Given the description of an element on the screen output the (x, y) to click on. 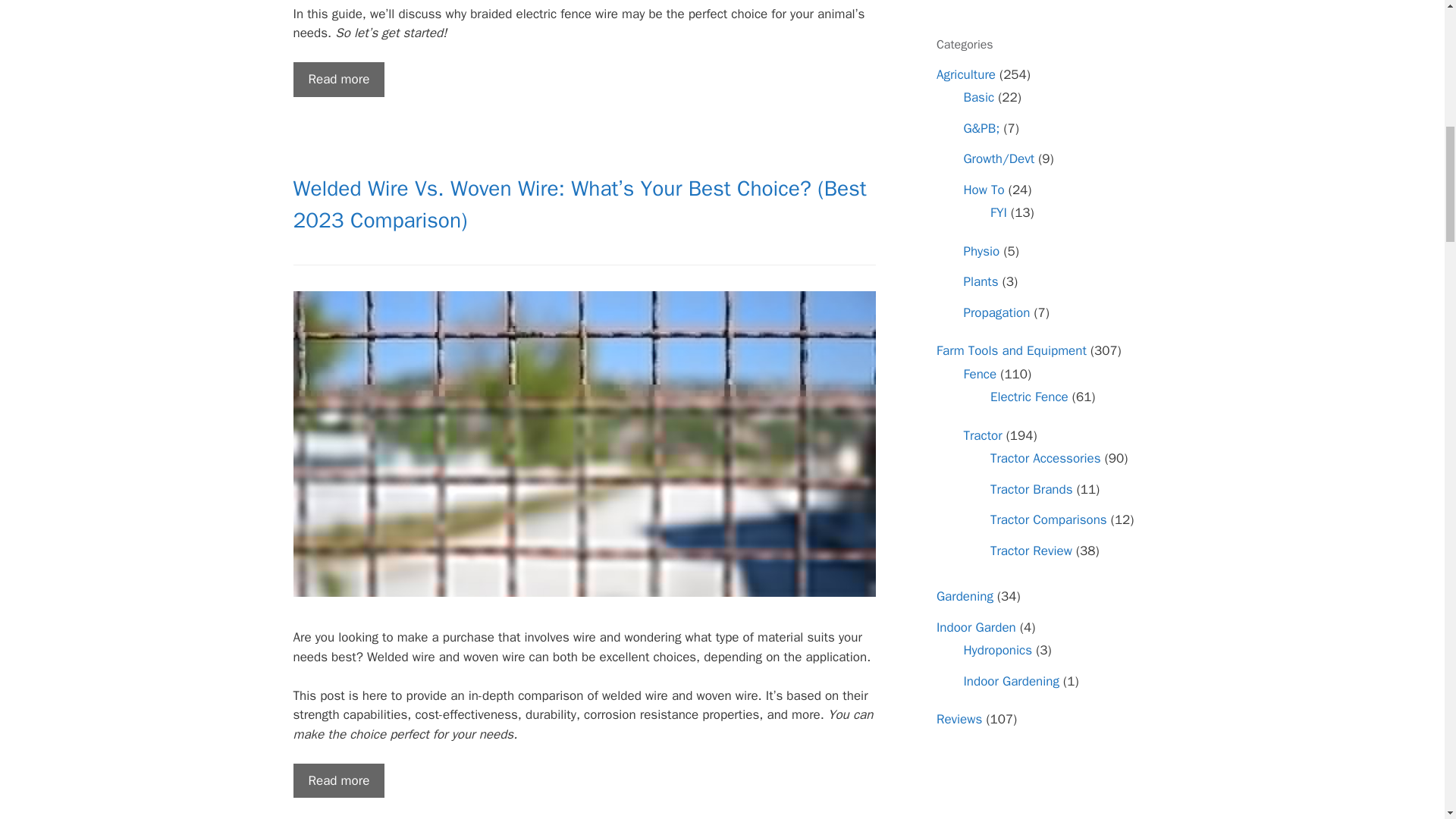
Scroll back to top (1406, 720)
Read more (338, 79)
Read more (338, 780)
